Given the description of an element on the screen output the (x, y) to click on. 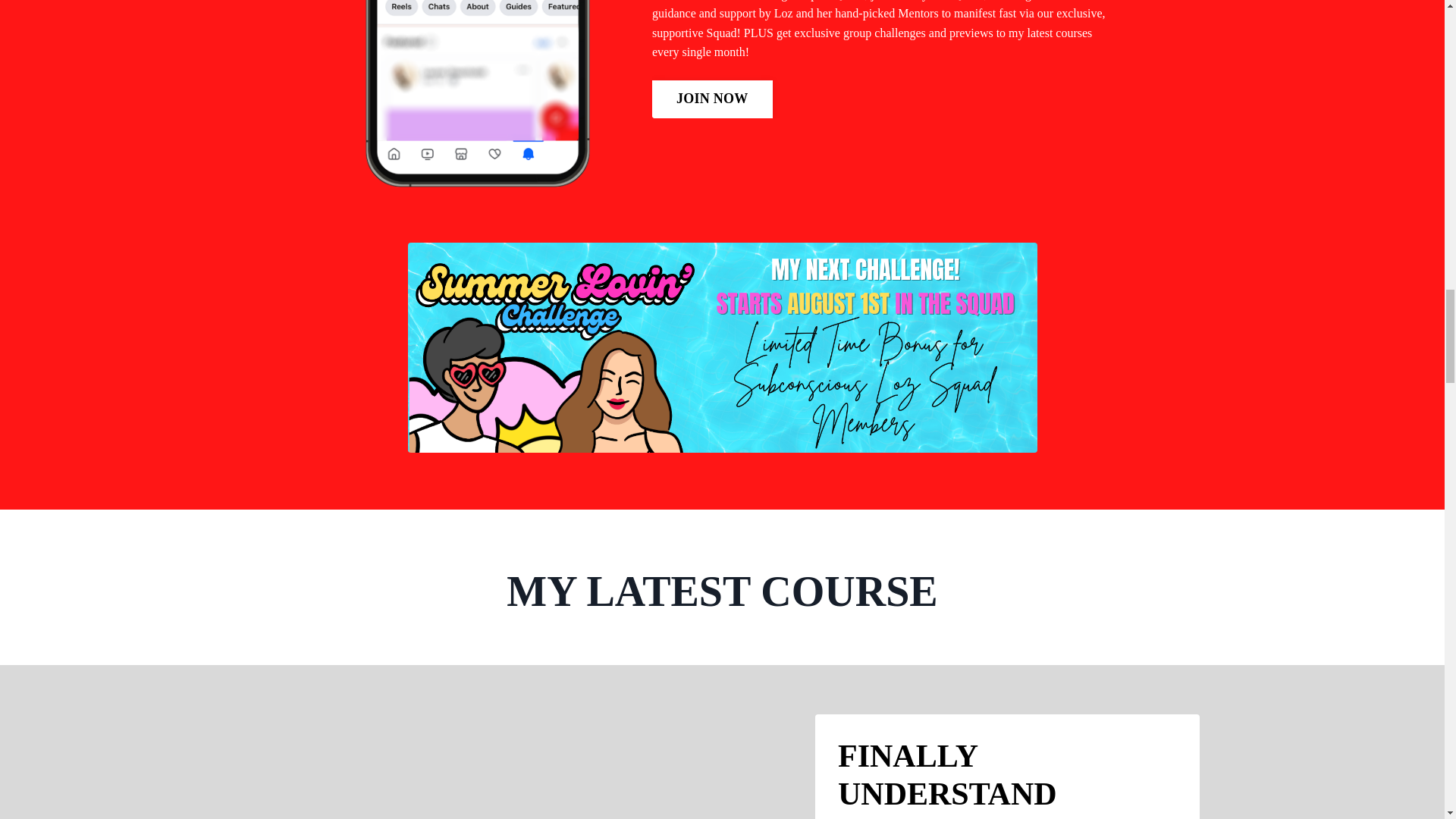
JOIN NOW (712, 98)
